Given the description of an element on the screen output the (x, y) to click on. 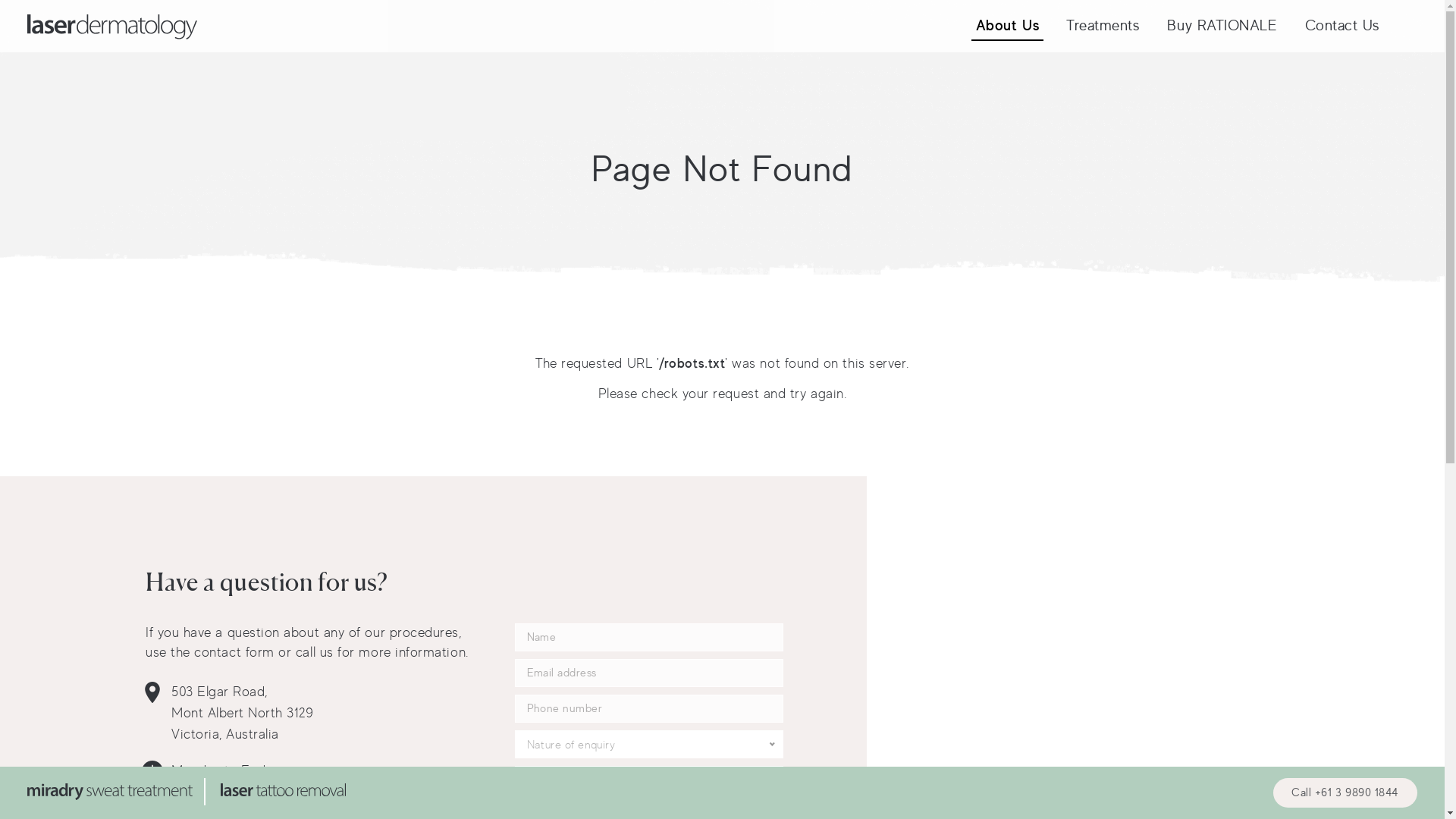
Laser Element type: text (112, 27)
Call +61 3 9890 1844 Element type: text (1345, 792)
Buy RATIONALE Element type: text (1221, 25)
Treatments Element type: text (1102, 25)
Tattoo Laser Dermatology Element type: hover (282, 792)
About Us Element type: text (1007, 25)
Contact Us Element type: text (1341, 25)
503 Elgar Road,
Mont Albert North 3129
Victoria, Australia Element type: text (242, 712)
miraDry Laser Dermatology Element type: hover (121, 792)
